Given the description of an element on the screen output the (x, y) to click on. 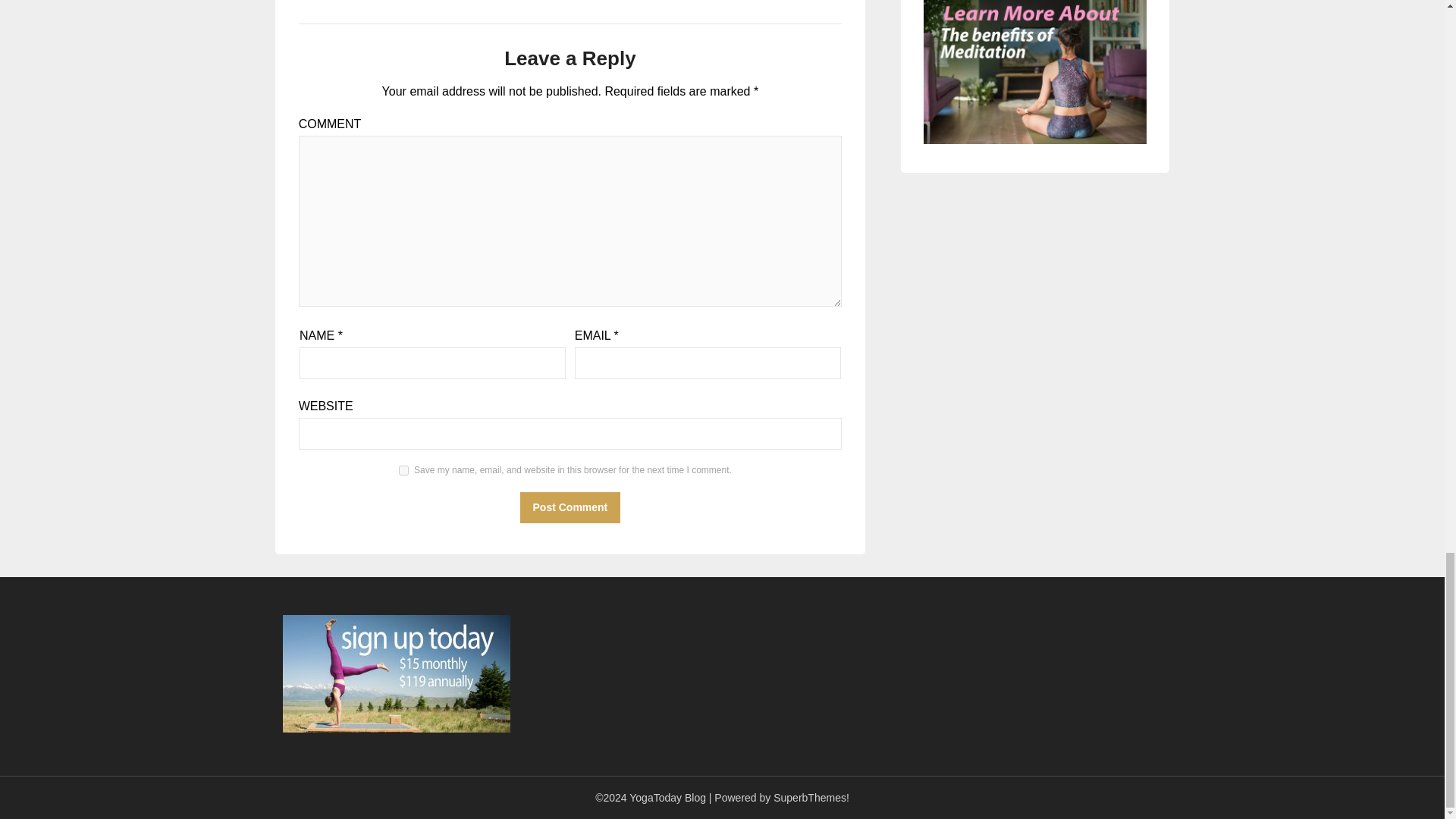
SuperbThemes! (810, 797)
Post Comment (570, 507)
Post Comment (570, 507)
Learn more about the benefits of meditation. (1035, 72)
yes (403, 470)
